Given the description of an element on the screen output the (x, y) to click on. 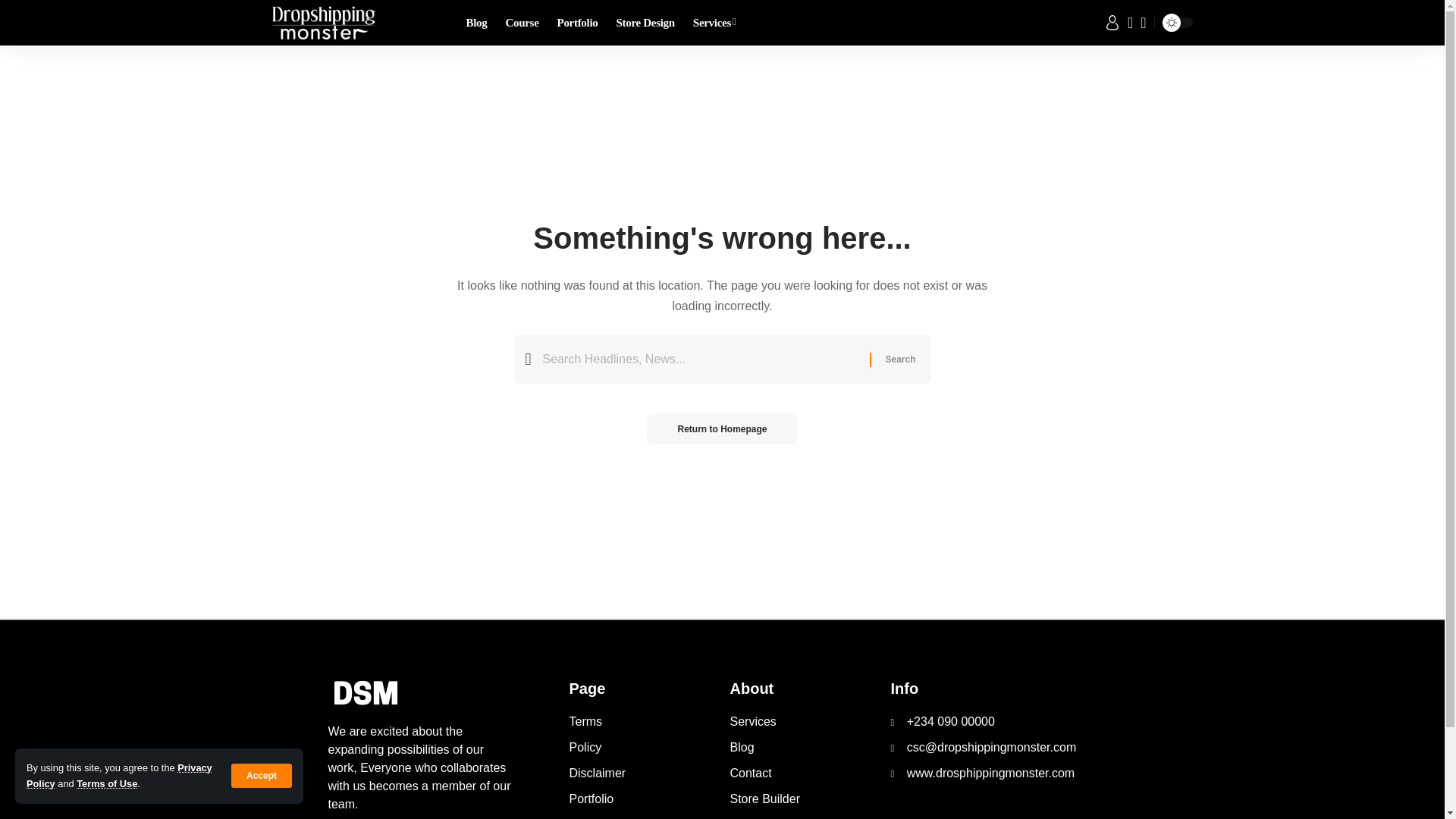
E-commerce Store Design (644, 22)
Course (521, 22)
Store Design (644, 22)
Your Dropshipping Success (577, 22)
Accept (261, 775)
Dropshipping Monster (322, 22)
Services (714, 22)
Terms of Use (106, 783)
Search (899, 359)
Privacy Policy (119, 775)
Portfolio (577, 22)
Services (714, 22)
Course (521, 22)
